Given the description of an element on the screen output the (x, y) to click on. 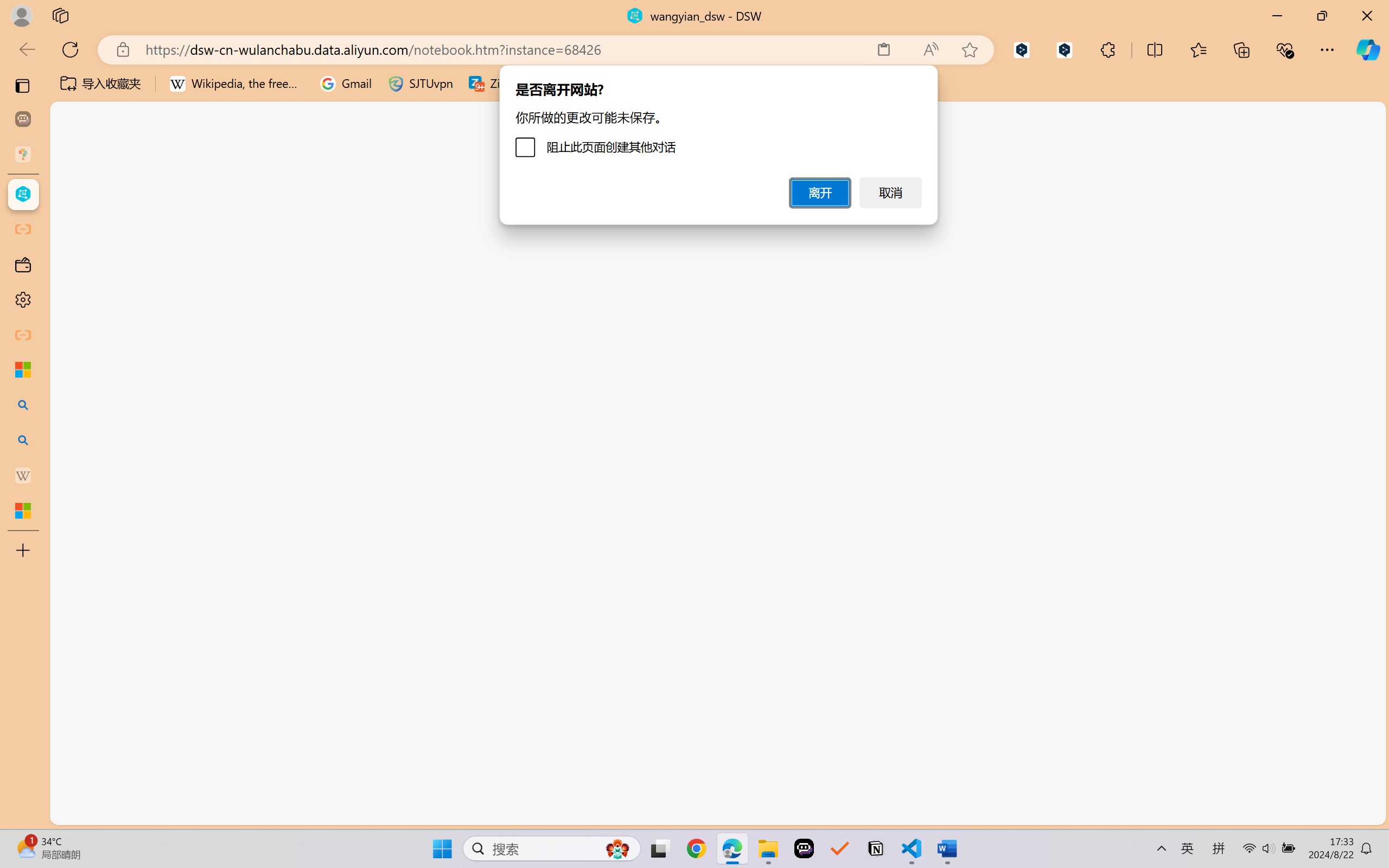
Notebook (353, 121)
Extensions (Ctrl+Shift+X) (73, 422)
Views and More Actions... (239, 193)
Stop Forwarding Port (Delete) (416, 265)
